Given the description of an element on the screen output the (x, y) to click on. 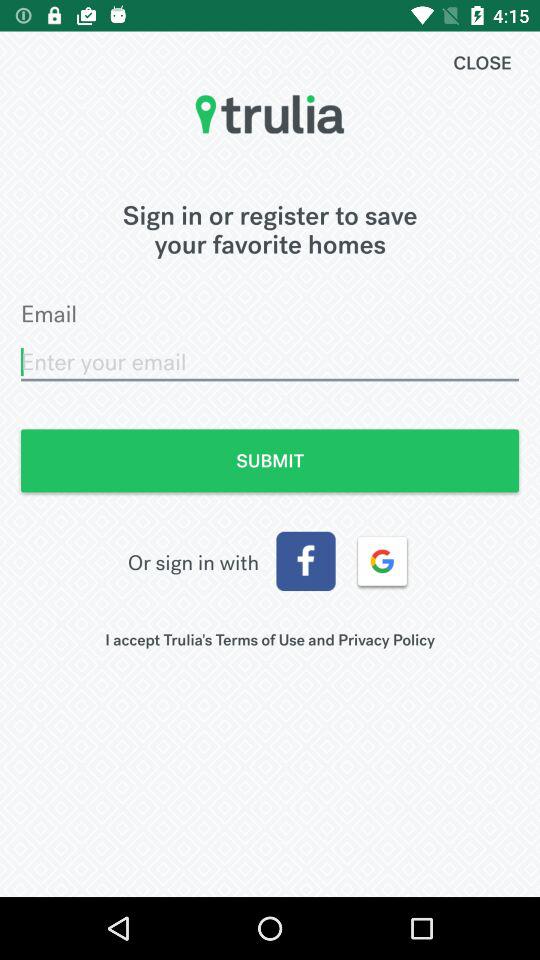
select icon below the submit item (305, 561)
